Given the description of an element on the screen output the (x, y) to click on. 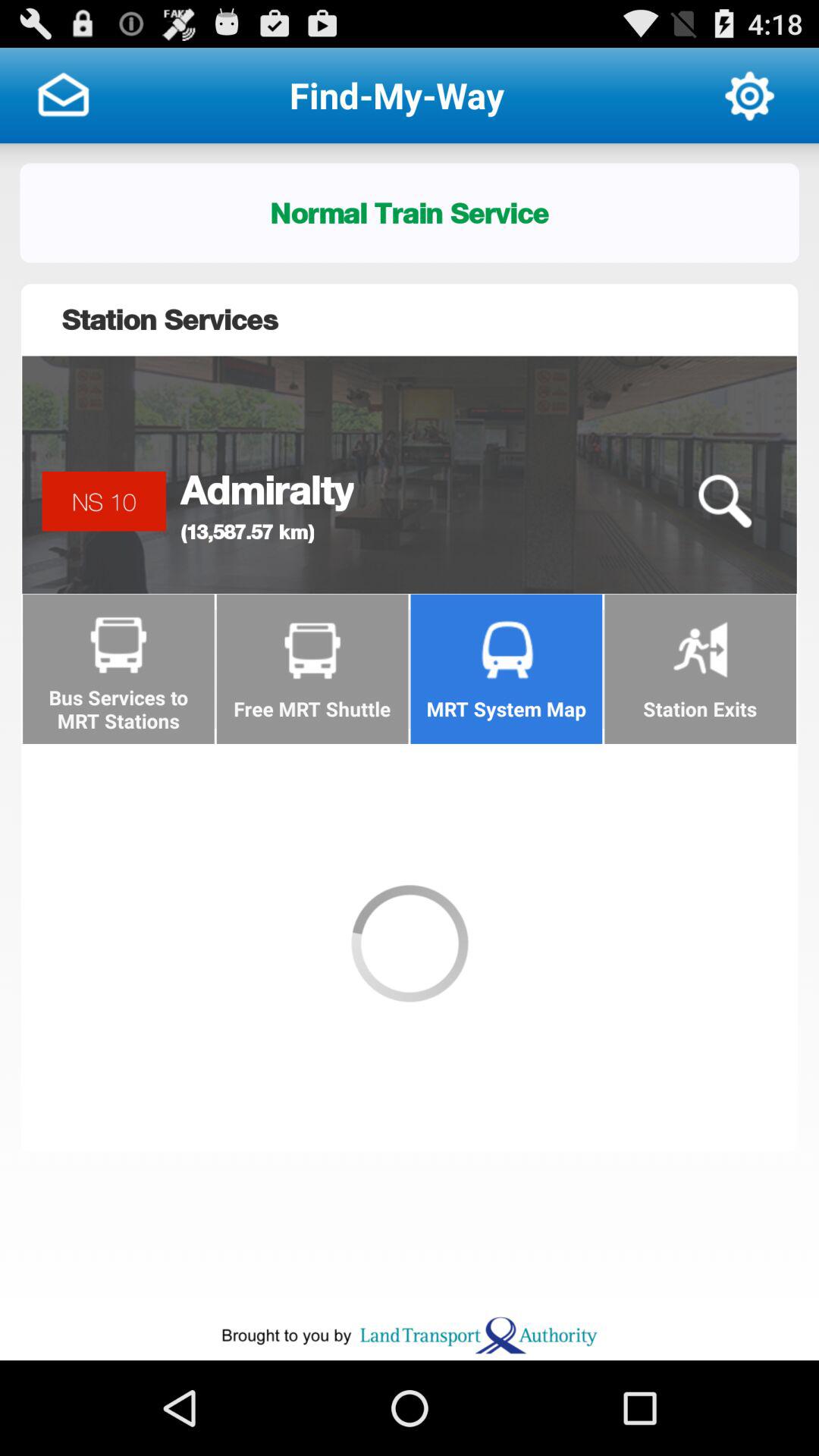
turn off app next to the find-my-way (749, 95)
